Given the description of an element on the screen output the (x, y) to click on. 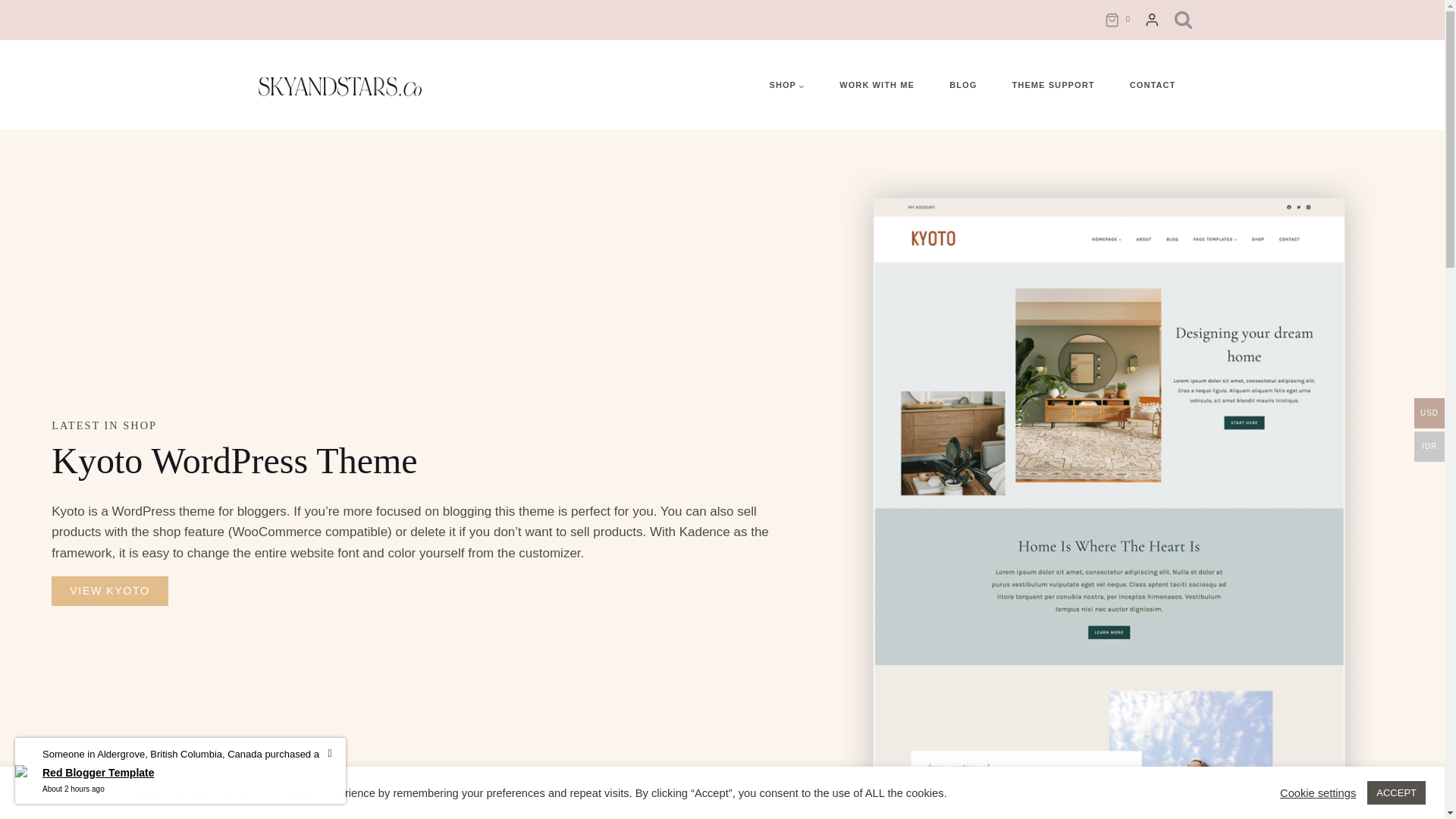
THEME SUPPORT (1053, 85)
0 (1121, 20)
VIEW KYOTO (108, 591)
CONTACT (1152, 85)
WORK WITH ME (876, 85)
